Given the description of an element on the screen output the (x, y) to click on. 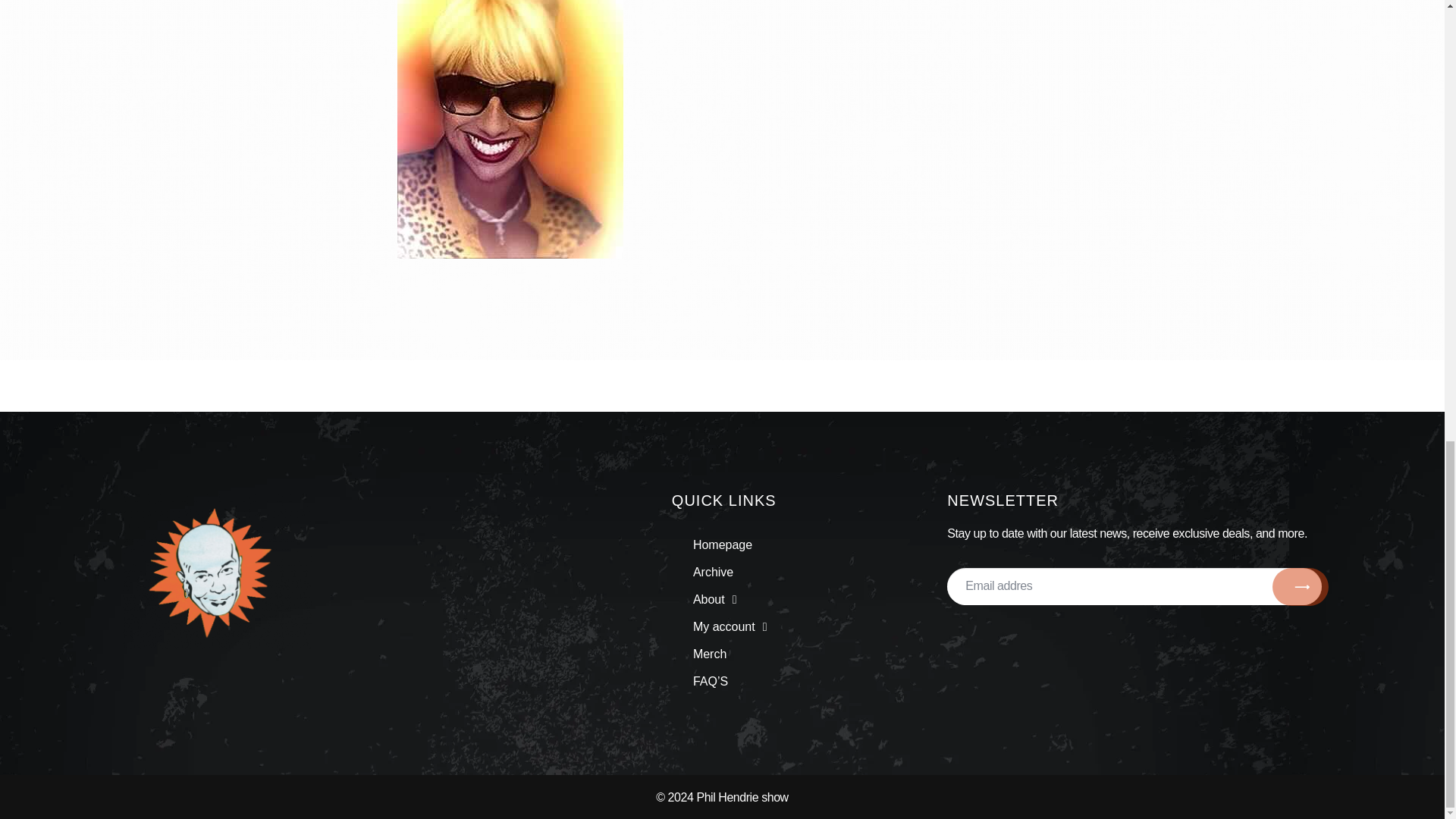
Homepage (730, 544)
About (730, 599)
Merch (730, 654)
My account (730, 626)
Archive (730, 572)
